Given the description of an element on the screen output the (x, y) to click on. 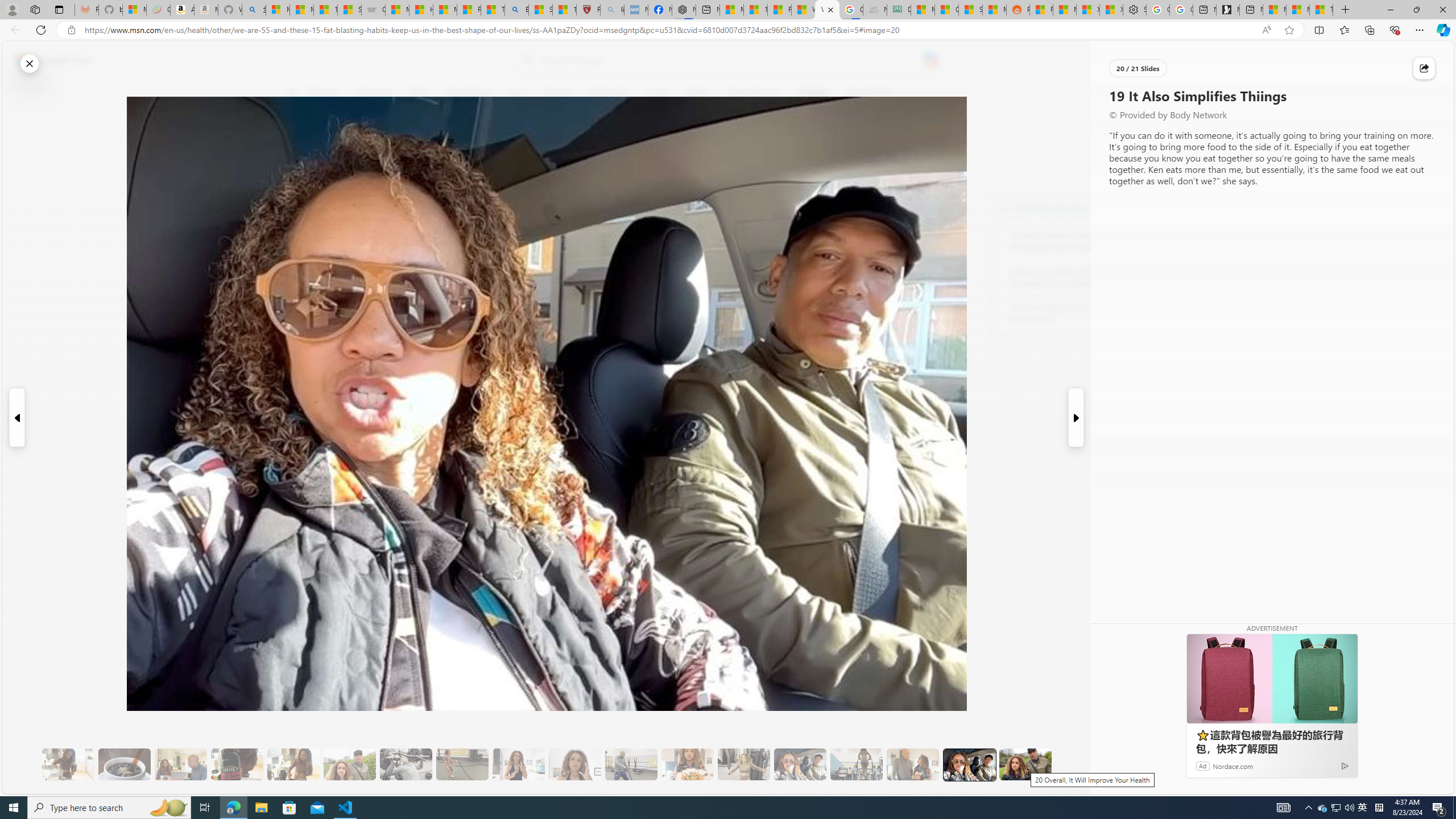
list of asthma inhalers uk - Search - Sleeping (611, 9)
Navy Quest (874, 9)
To get missing image descriptions, open the context menu. (1109, 92)
Food & Drink (865, 92)
Technology (609, 92)
Local (517, 92)
Personalize (1132, 92)
These 3 Stocks Pay You More Than 5% to Own Them (1321, 9)
R******* | Trusted Community Engagement and Contributions (1041, 9)
NCL Adult Asthma Inhaler Choice Guideline - Sleeping (635, 9)
Feedback (1410, 784)
8 Be Mindful of Coffee (124, 764)
11 They Eat More Protein for Breakfast (518, 764)
